Given the description of an element on the screen output the (x, y) to click on. 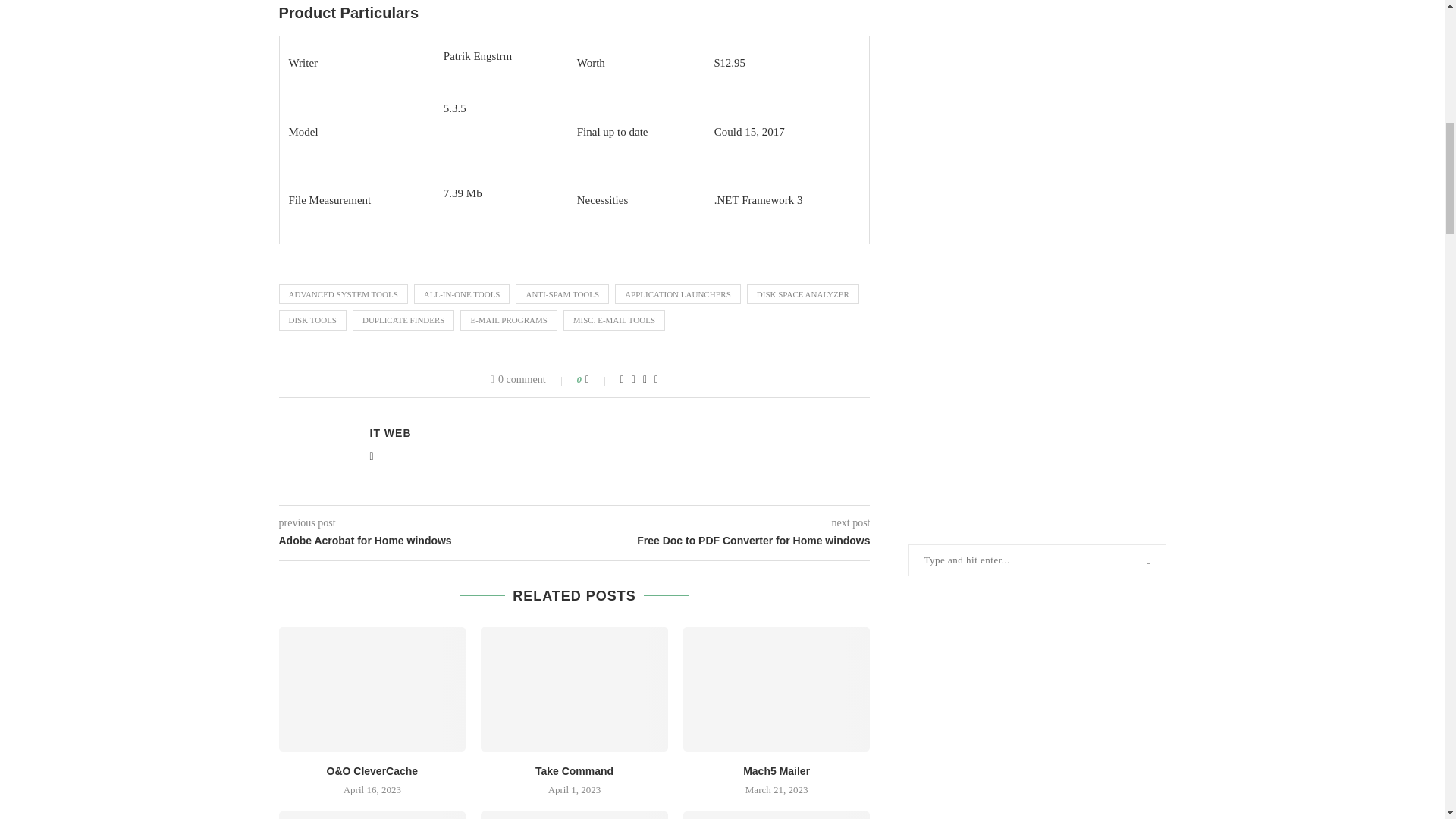
Postbox (372, 815)
DISK SPACE ANALYZER (802, 293)
IT WEB (390, 432)
ANTI-SPAM TOOLS (561, 293)
Dupli Discover (574, 815)
Mach5 Mailer (776, 689)
ALL-IN-ONE TOOLS (462, 293)
E-MAIL PROGRAMS (508, 320)
Like (597, 379)
APPLICATION LAUNCHERS (677, 293)
